Given the description of an element on the screen output the (x, y) to click on. 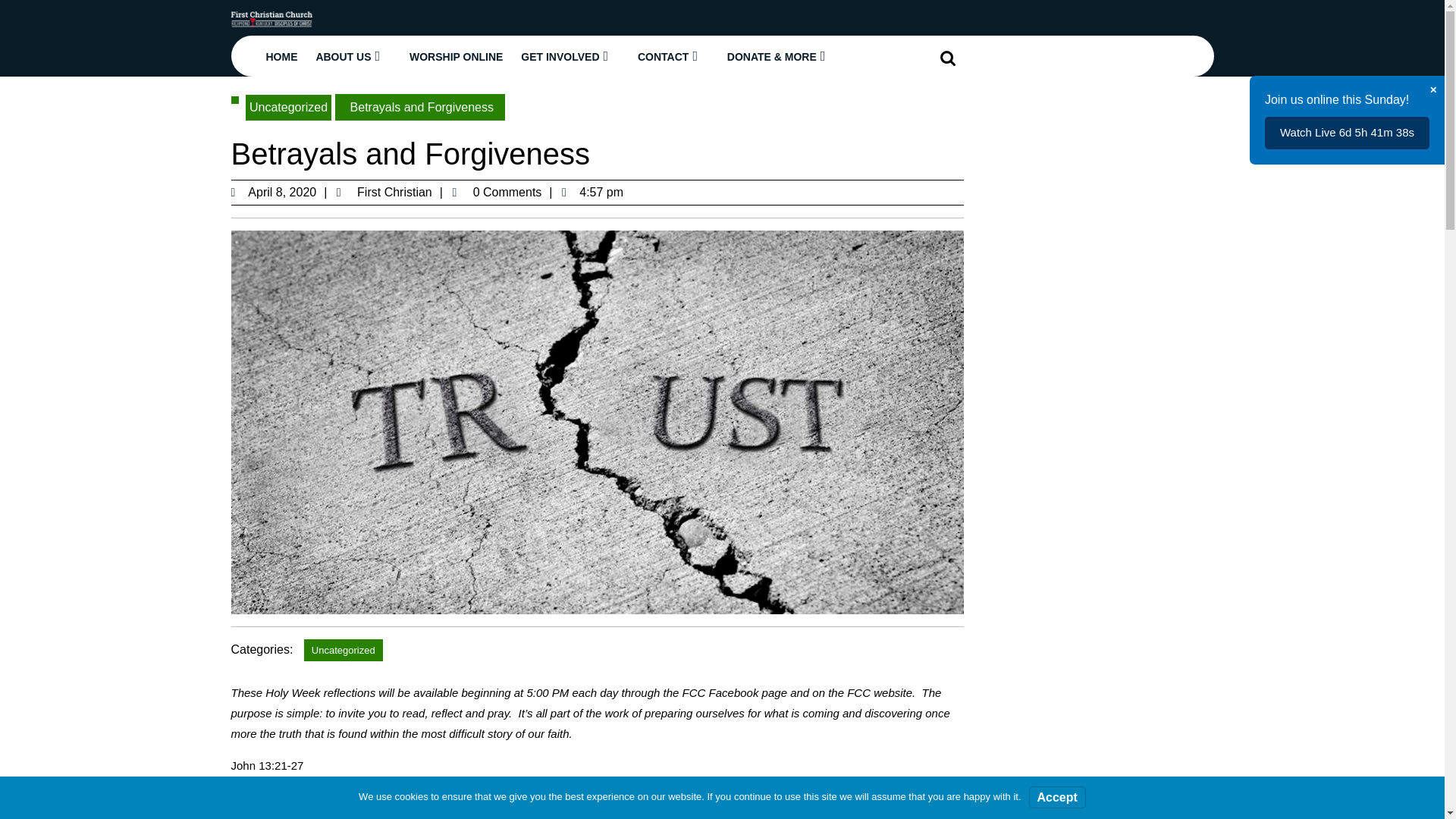
Search (950, 58)
ABOUT US (352, 55)
Watch Live 6d 5h 41m 38s (1347, 133)
WORSHIP ONLINE (456, 56)
Search (950, 58)
CONTACT (673, 55)
HOME (280, 56)
GET INVOLVED (570, 55)
